Given the description of an element on the screen output the (x, y) to click on. 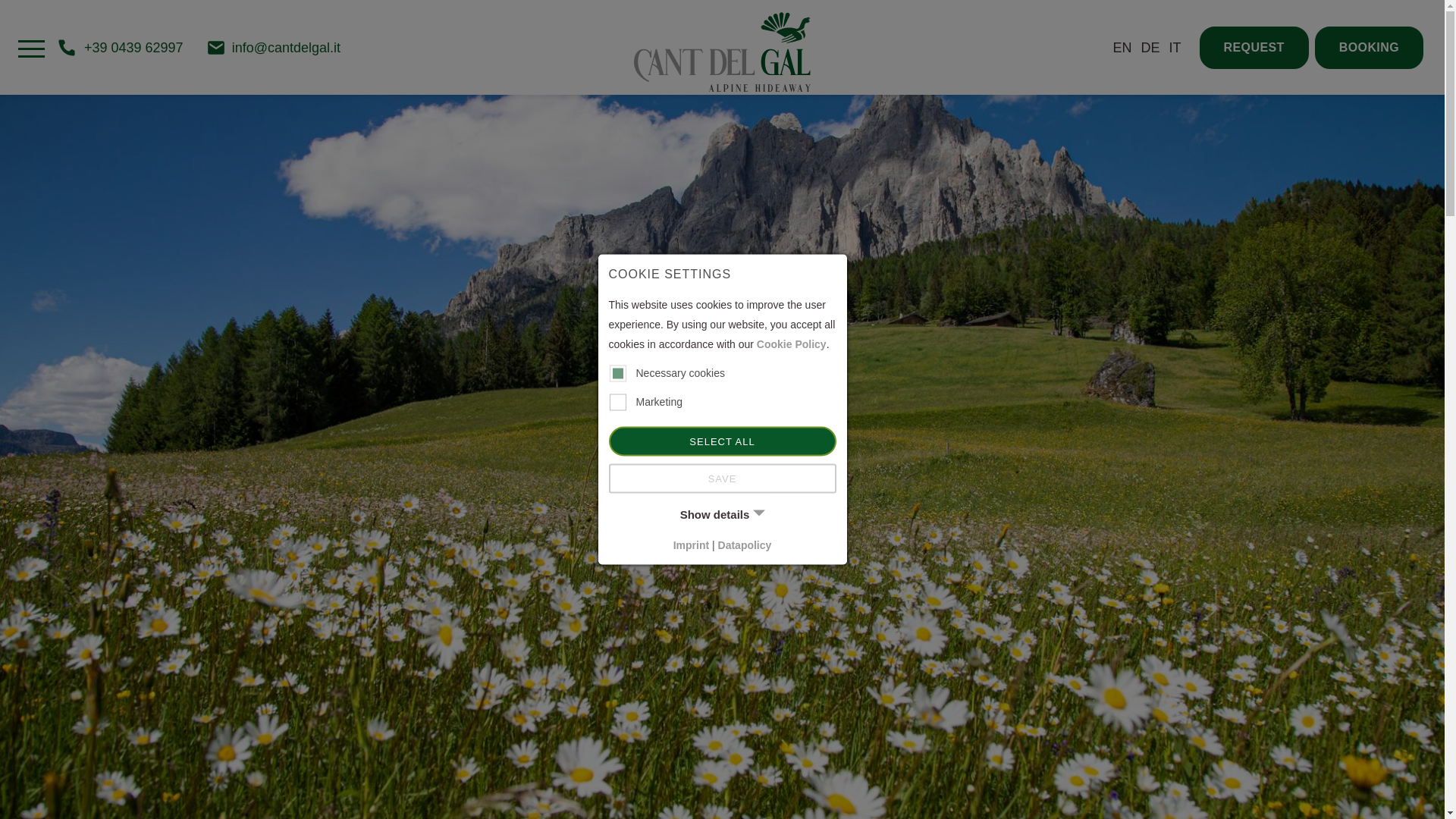
Booking (1368, 46)
BOOKING (1368, 46)
REQUEST (1253, 46)
DE (1150, 47)
En (721, 51)
Angebote (1150, 47)
Request (1253, 46)
